Given the description of an element on the screen output the (x, y) to click on. 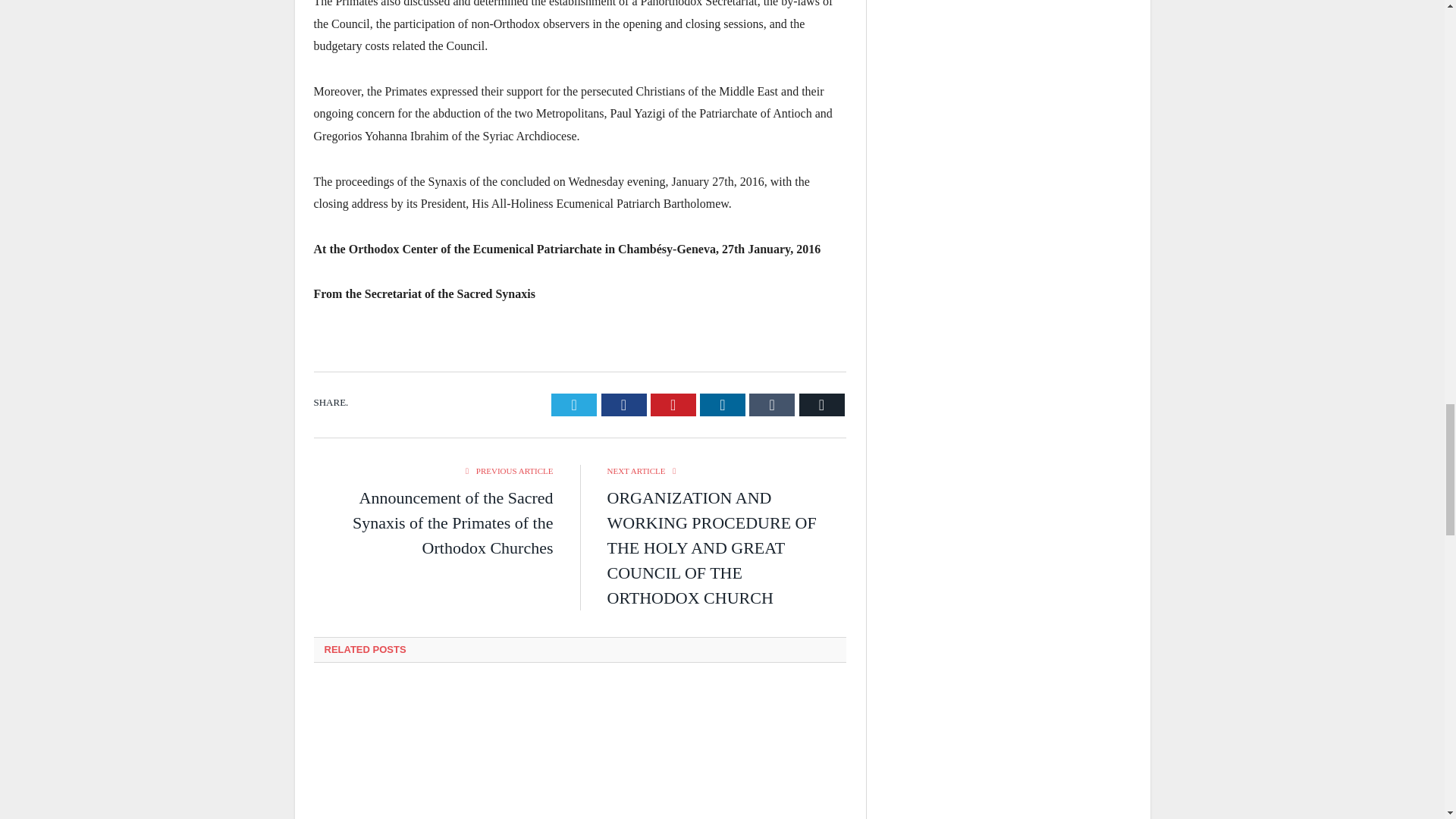
Share on LinkedIn (722, 404)
Share on Pinterest (672, 404)
Share on Tumblr (771, 404)
Share on Facebook (622, 404)
Tweet It (573, 404)
